Given the description of an element on the screen output the (x, y) to click on. 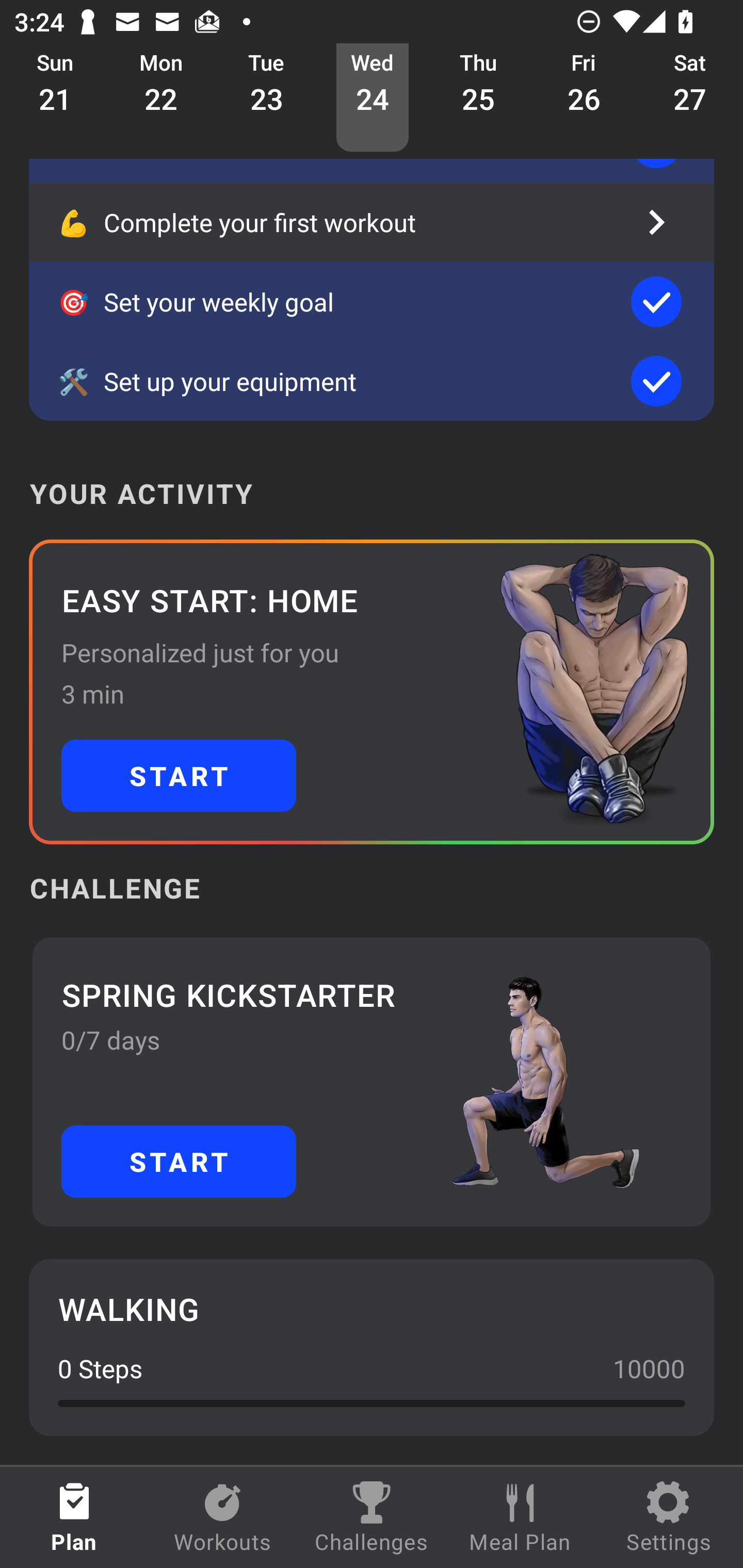
Sun 21 (55, 97)
Mon 22 (160, 97)
Tue 23 (266, 97)
Wed 24 (372, 97)
Thu 25 (478, 97)
Fri 26 (584, 97)
Sat 27 (690, 97)
💪 Complete your first workout (371, 221)
START (178, 776)
SPRING KICKSTARTER 0/7 days START (371, 1082)
START (178, 1161)
WALKING 0 Steps 10000 0.0 (371, 1347)
 Workouts  (222, 1517)
 Challenges  (371, 1517)
 Meal Plan  (519, 1517)
 Settings  (668, 1517)
